Given the description of an element on the screen output the (x, y) to click on. 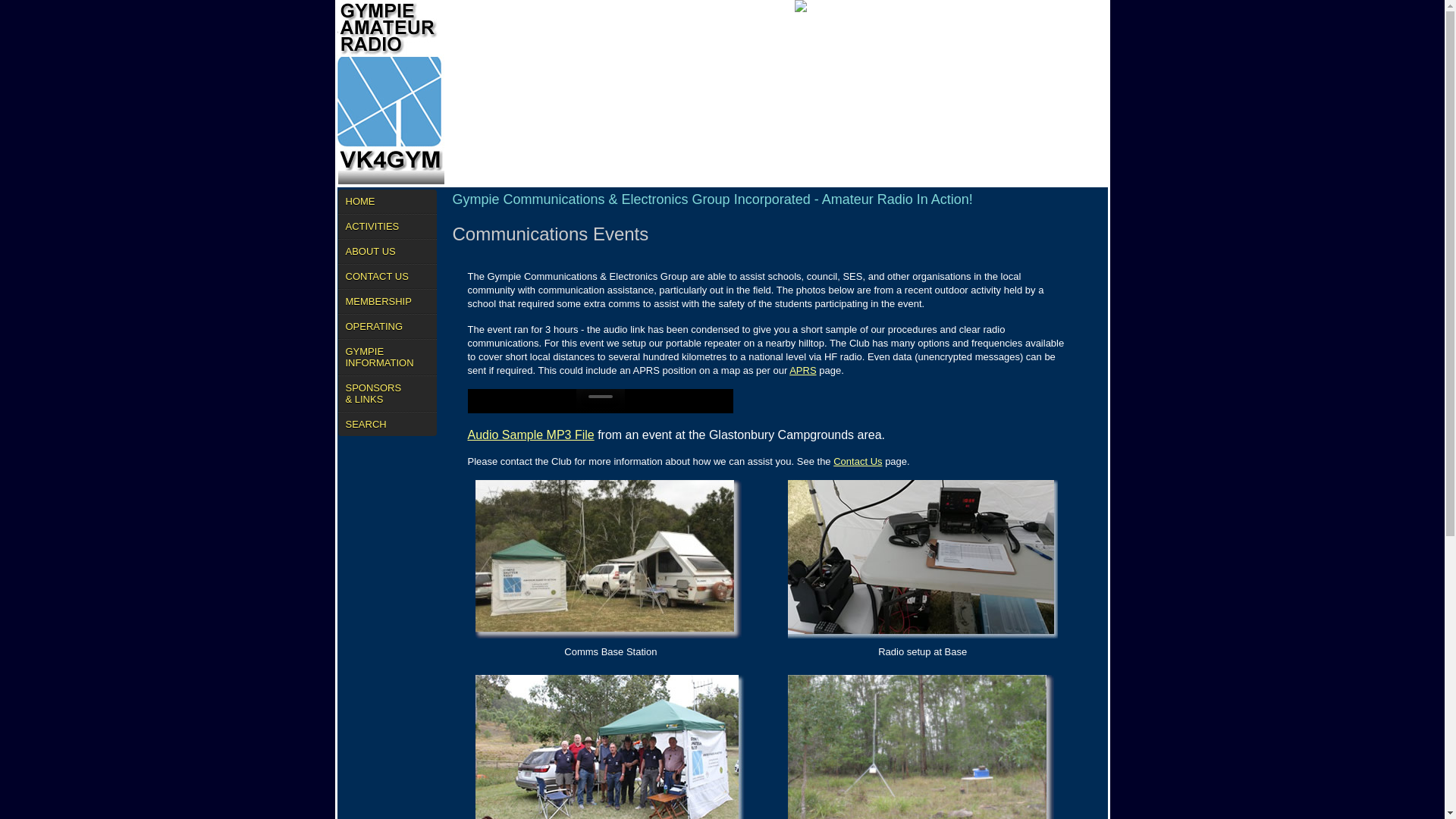
GYMPIE AMATEUR RADIO - VK4GYM Element type: hover (389, 92)
APRS Element type: text (802, 370)
CONTACT US Element type: text (387, 275)
Contact Us Element type: text (857, 461)
HOME Element type: text (387, 201)
Audio Sample MP3 File Element type: text (530, 434)
ACTIVITIES Element type: text (387, 225)
OPERATING Element type: text (387, 325)
SEARCH Element type: text (387, 423)
GYMPIE INFORMATION Element type: text (387, 356)
MEMBERSHIP Element type: text (387, 300)
ABOUT US Element type: text (387, 250)
SPONSORS
& LINKS Element type: text (387, 393)
